Given the description of an element on the screen output the (x, y) to click on. 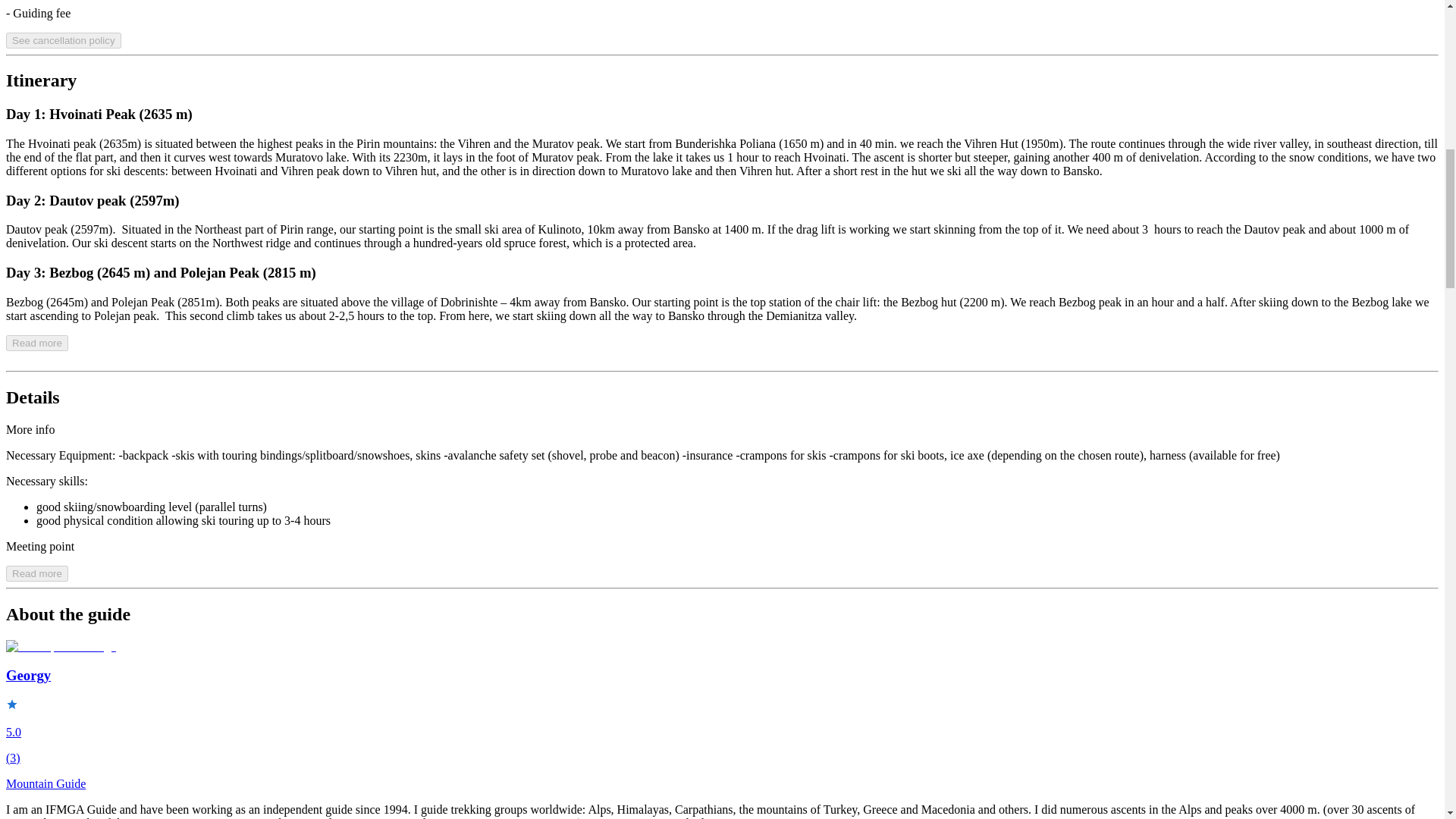
See cancellation policy (62, 39)
Read more (36, 342)
Read more (36, 573)
